Given the description of an element on the screen output the (x, y) to click on. 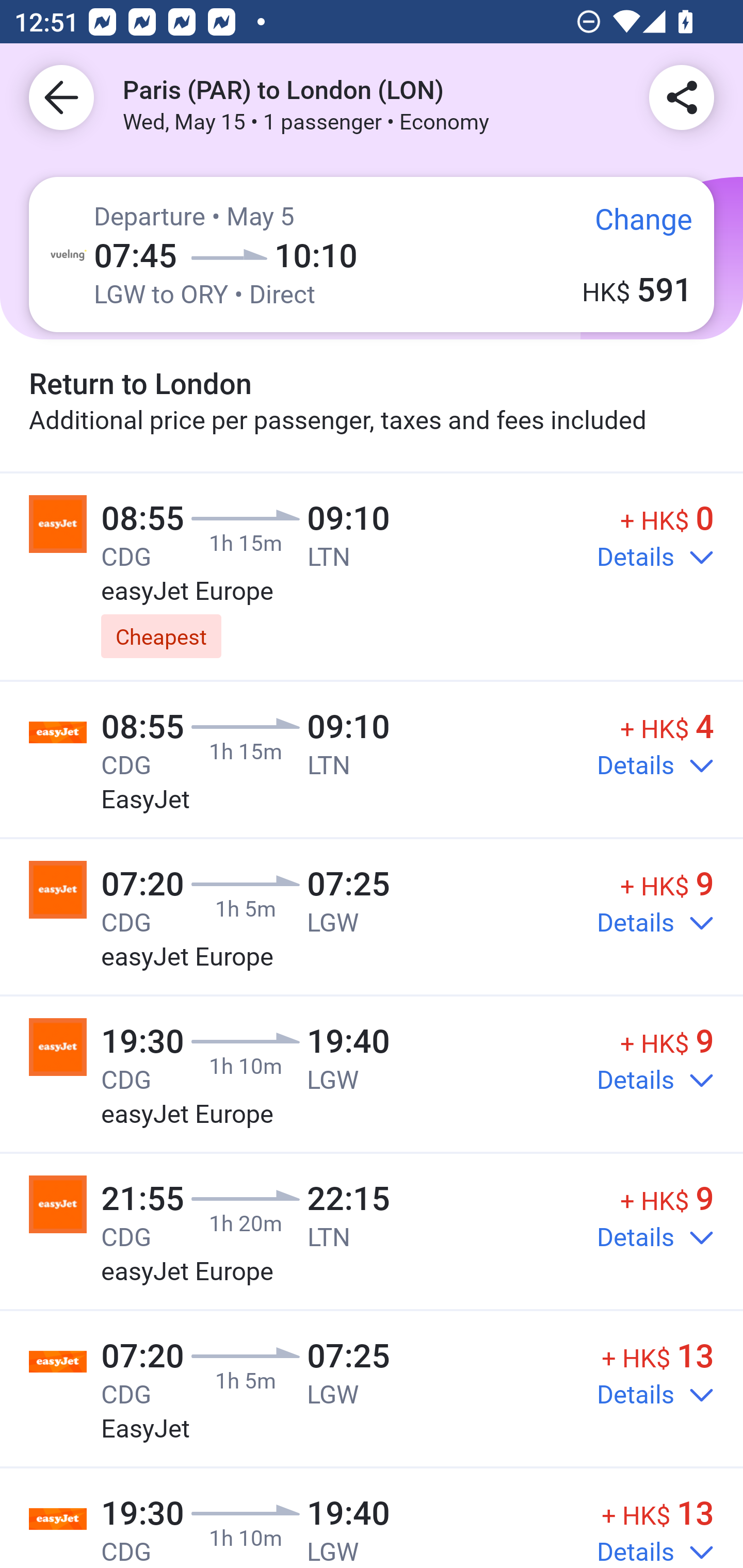
Change (629, 228)
